Given the description of an element on the screen output the (x, y) to click on. 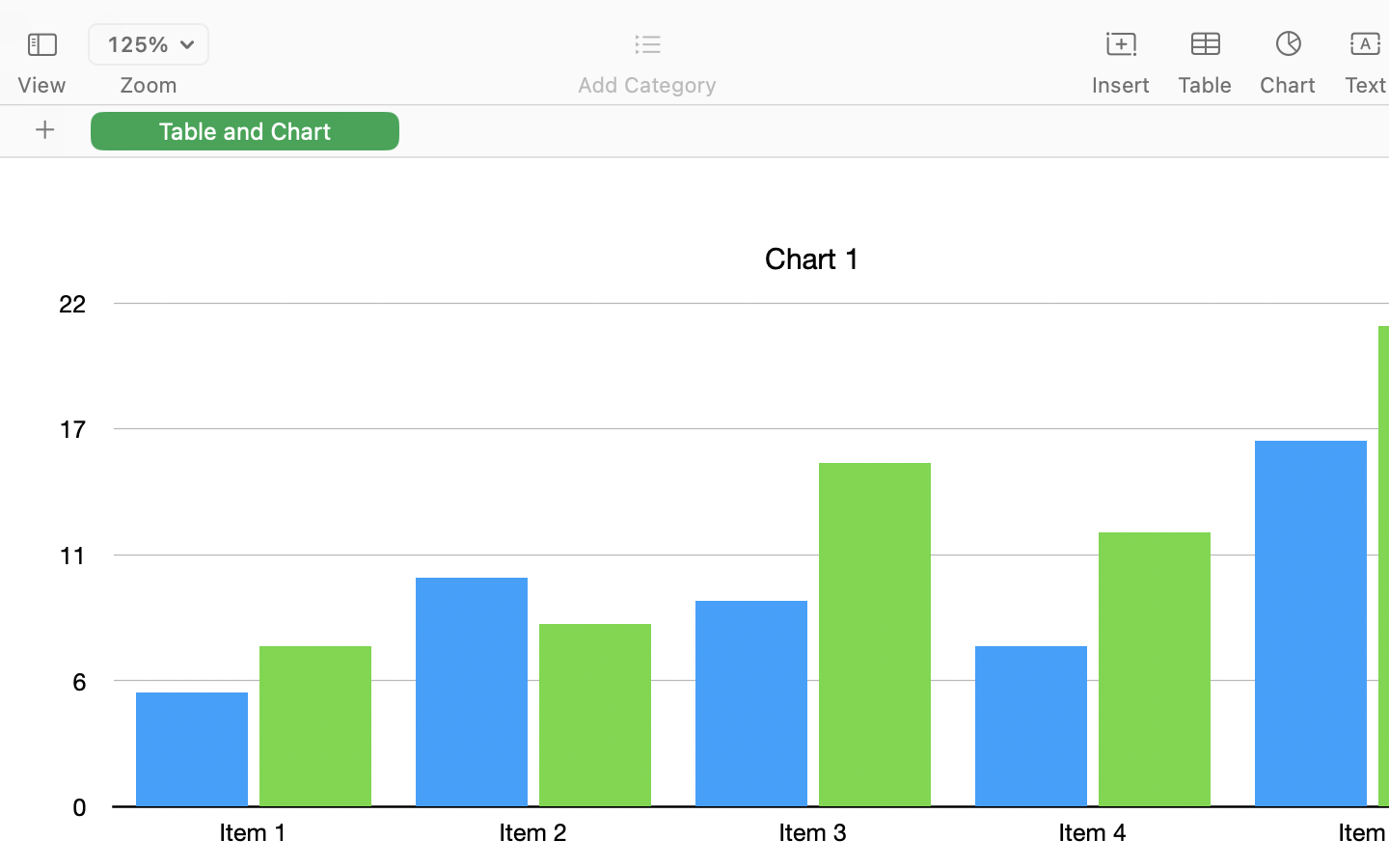
View Element type: AXStaticText (41, 84)
Add Category Element type: AXStaticText (646, 84)
Zoom Element type: AXStaticText (148, 84)
Insert Element type: AXStaticText (1120, 84)
